Given the description of an element on the screen output the (x, y) to click on. 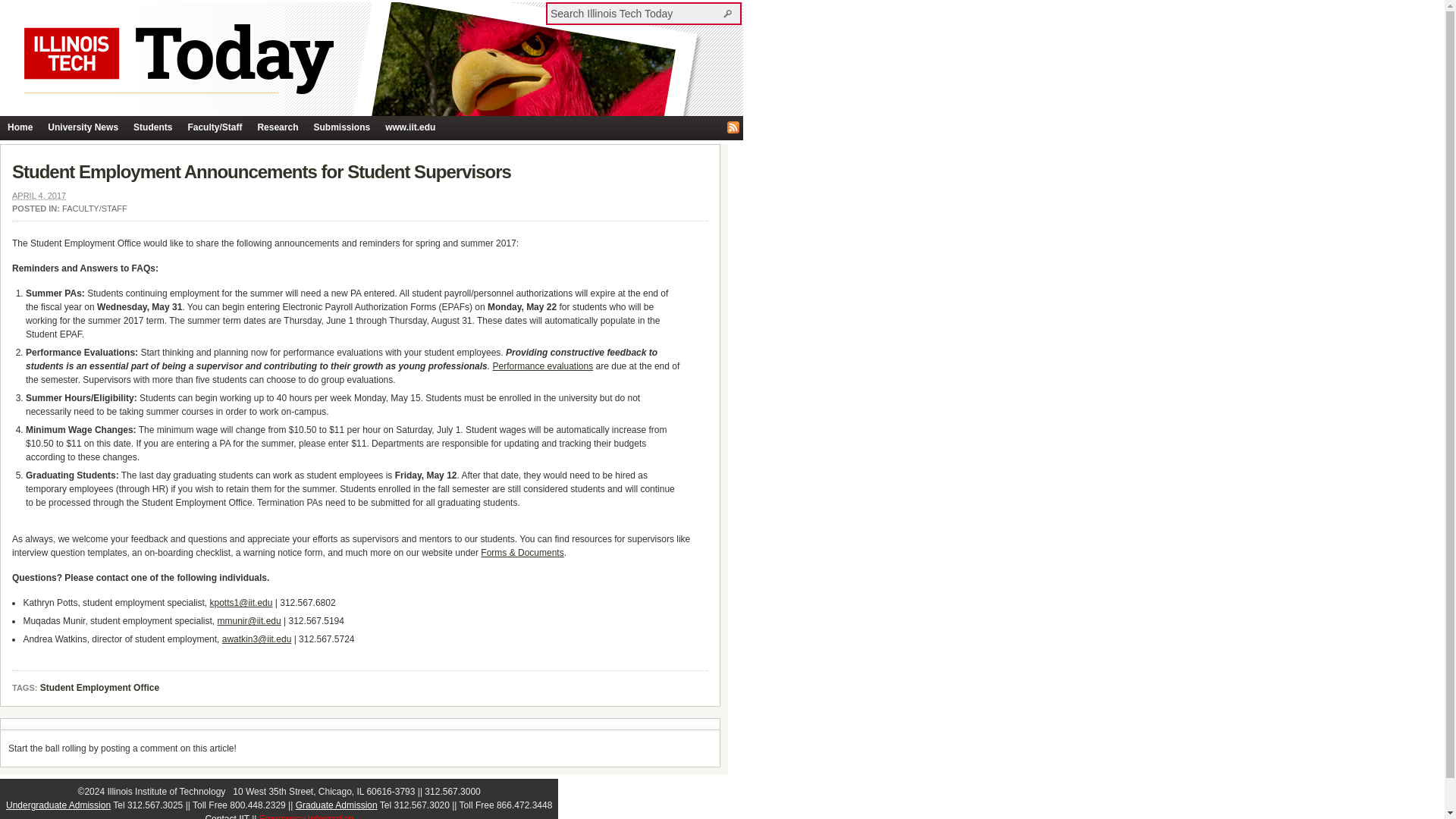
RSS Feed (732, 127)
Search Illinois Tech Today (729, 13)
Graduate Admission (336, 805)
2017-04-04T07:58:13-05:00 (38, 194)
University News (82, 127)
Students (152, 127)
Search Illinois Tech Today (636, 13)
Research (276, 127)
Performance evaluations (542, 366)
Student Employment Announcements for Student Supervisors (261, 171)
Contact IIT (226, 816)
Emergency Information (306, 816)
Contact IIT (226, 816)
Submissions (341, 127)
Search (729, 13)
